Given the description of an element on the screen output the (x, y) to click on. 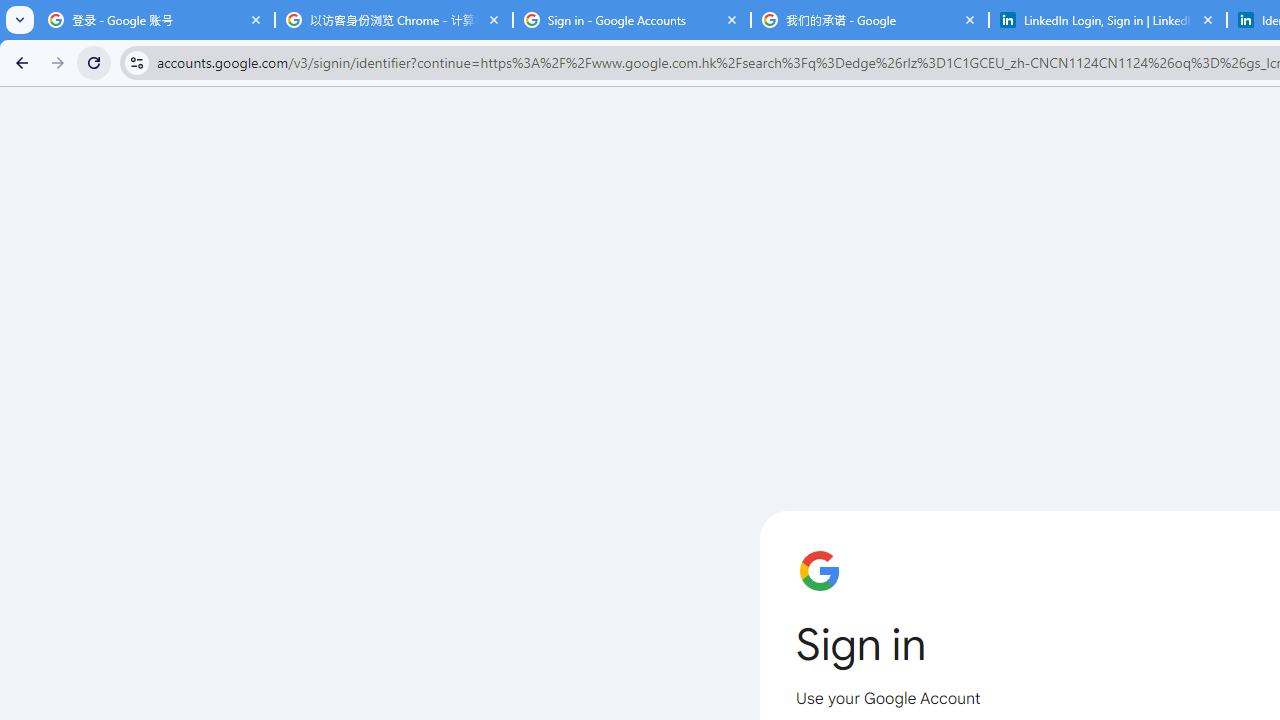
Sign in - Google Accounts (632, 20)
LinkedIn Login, Sign in | LinkedIn (1108, 20)
